Given the description of an element on the screen output the (x, y) to click on. 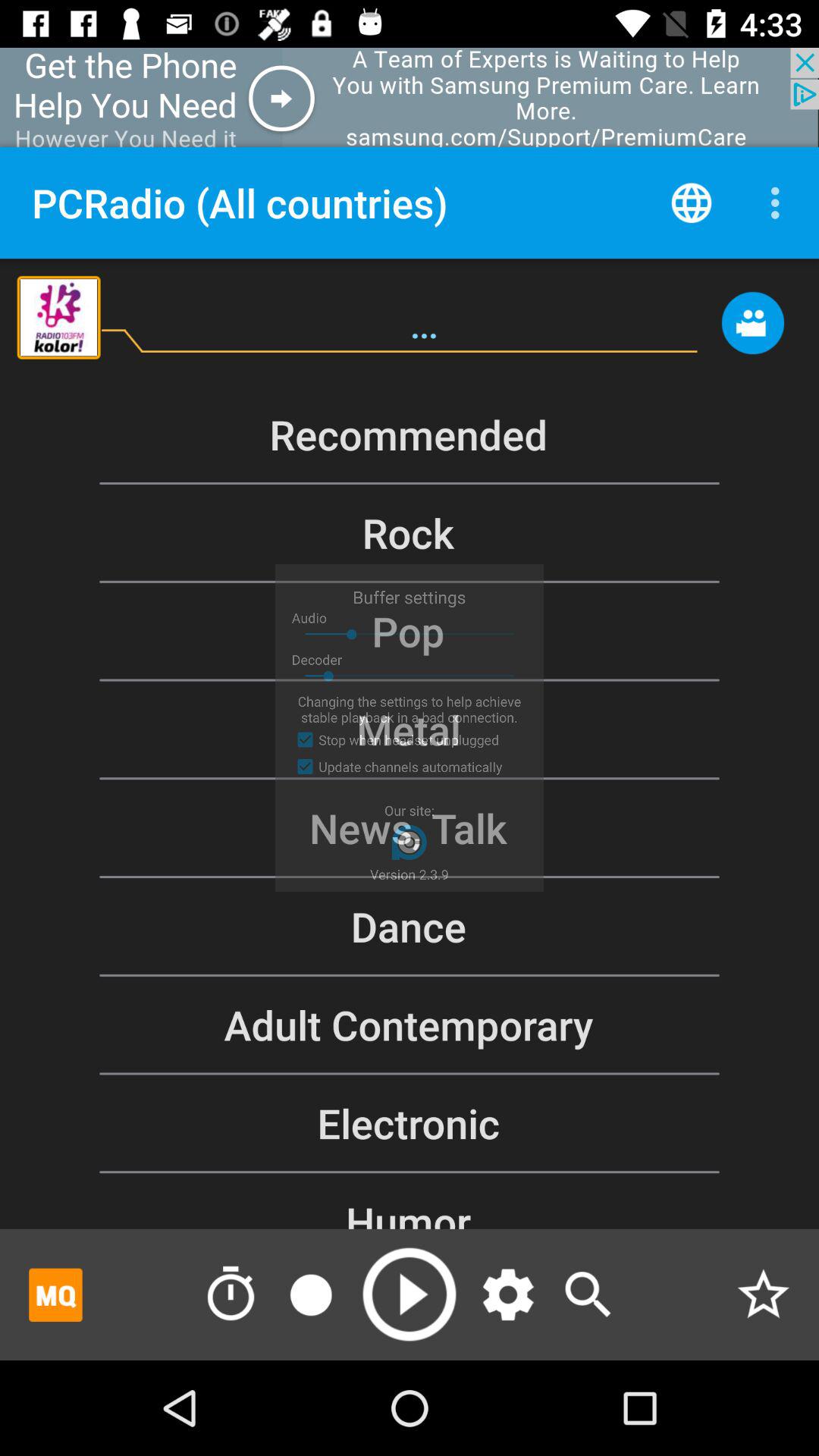
favourite (763, 1294)
